Given the description of an element on the screen output the (x, y) to click on. 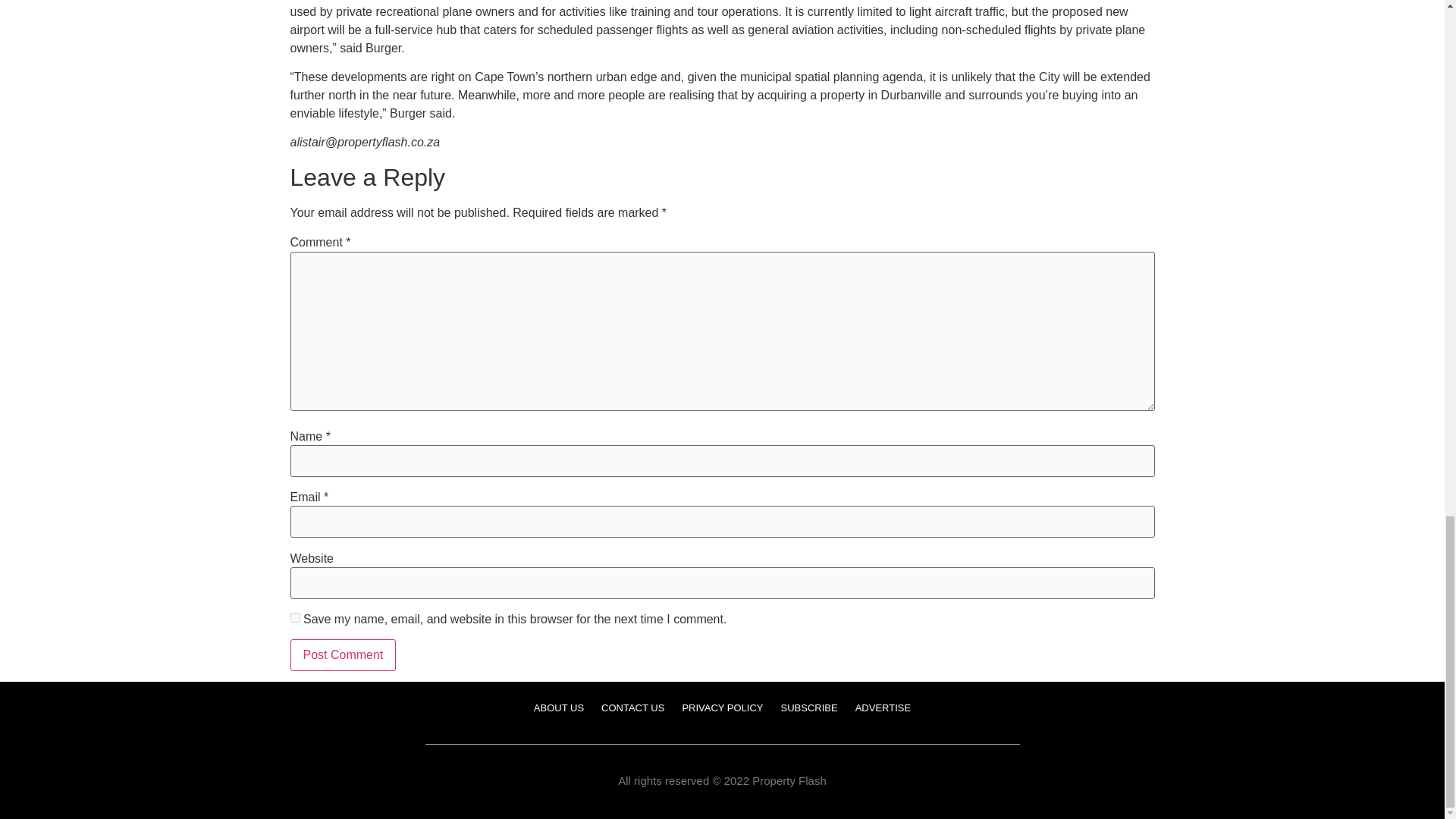
ABOUT US (558, 707)
SUBSCRIBE (809, 707)
CONTACT US (632, 707)
PRIVACY POLICY (722, 707)
yes (294, 617)
ADVERTISE (882, 707)
Post Comment (342, 654)
Post Comment (342, 654)
